Given the description of an element on the screen output the (x, y) to click on. 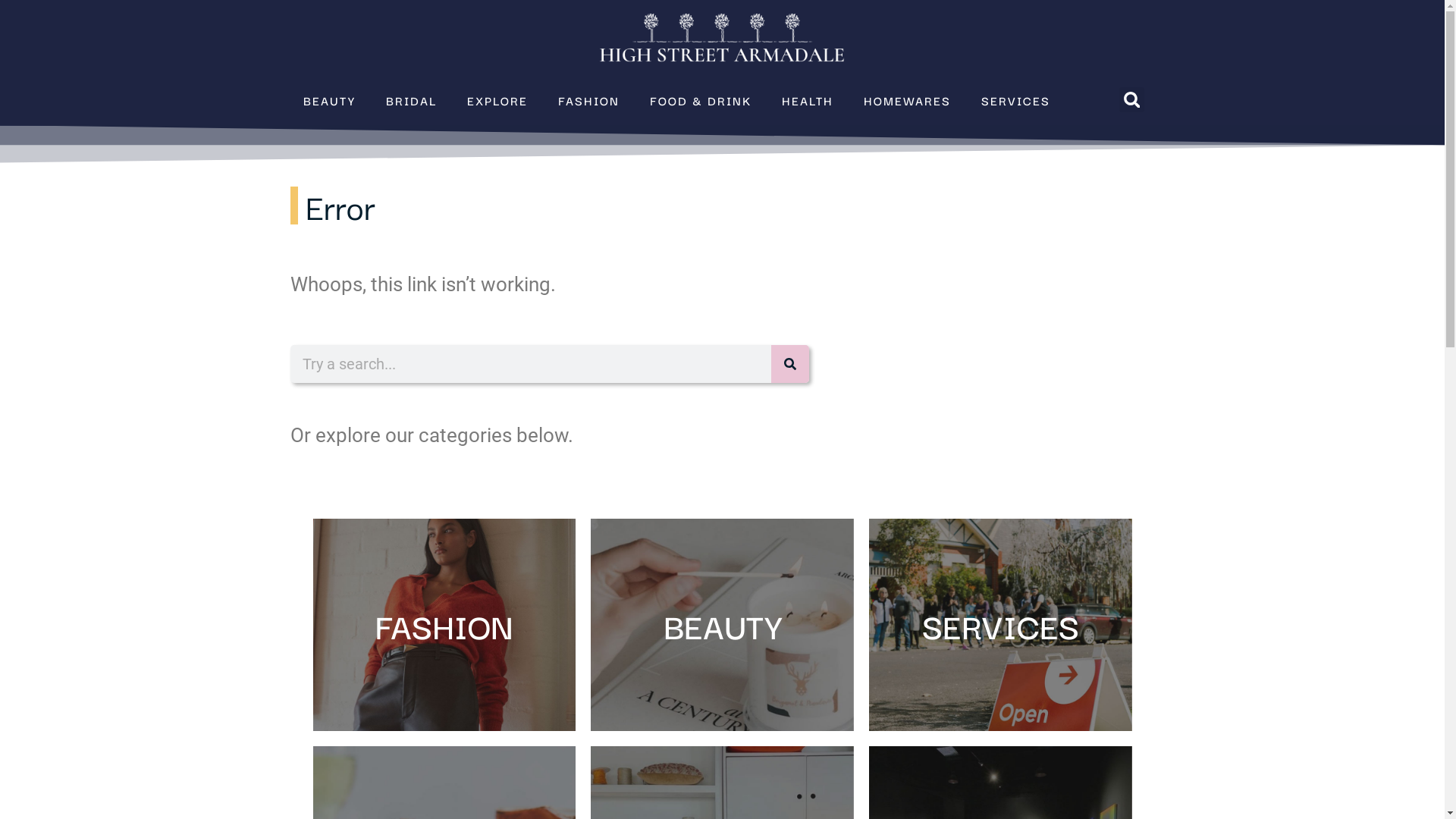
EXPLORE Element type: text (496, 99)
FASHION Element type: text (443, 624)
FOOD & DRINK Element type: text (700, 99)
SERVICES Element type: text (1000, 624)
FASHION Element type: text (588, 99)
BRIDAL Element type: text (410, 99)
HEALTH Element type: text (807, 99)
BEAUTY Element type: text (329, 99)
SERVICES Element type: text (1015, 99)
BEAUTY Element type: text (721, 624)
HOMEWARES Element type: text (907, 99)
